Given the description of an element on the screen output the (x, y) to click on. 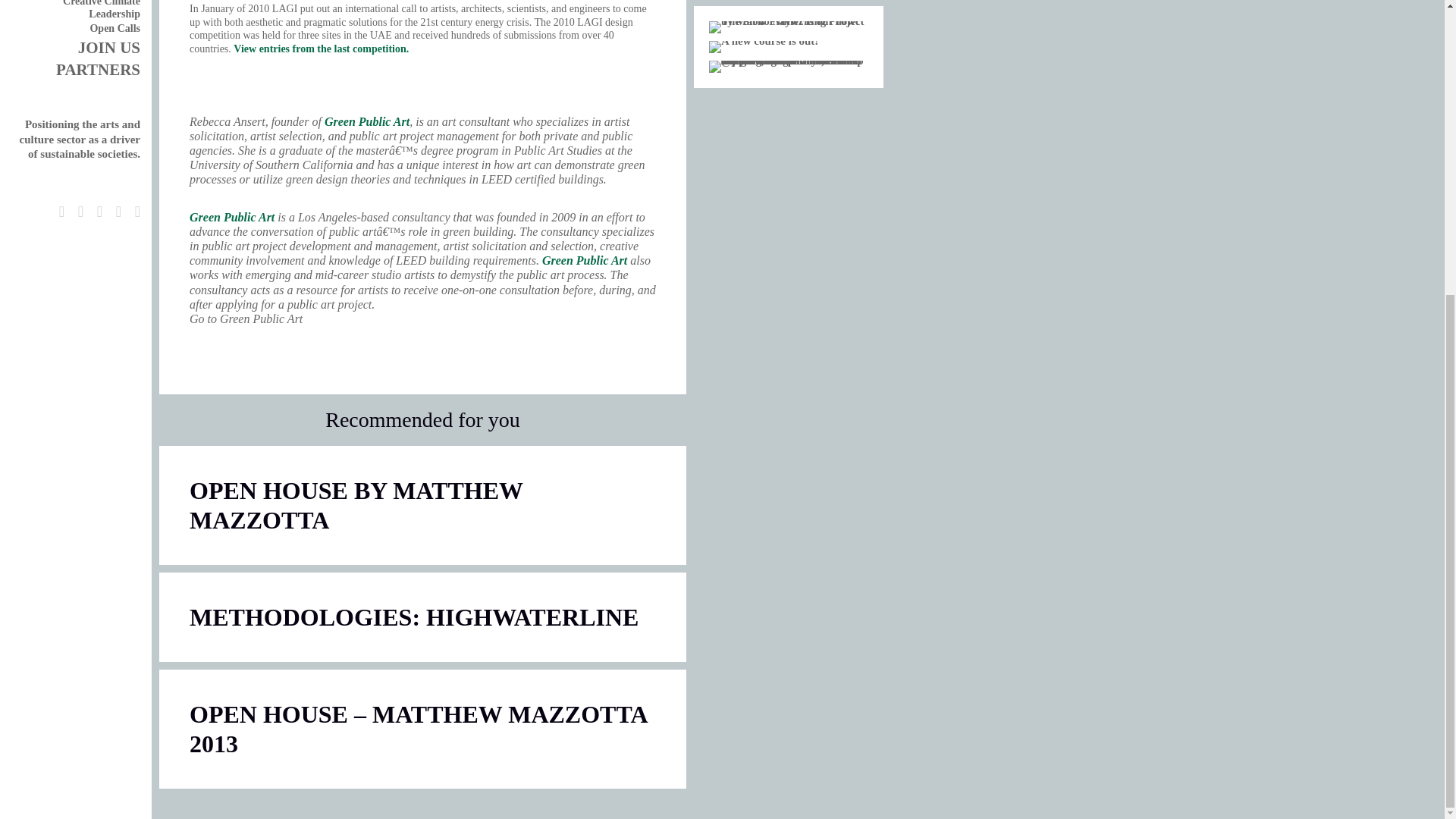
Creative Climate Leadership (100, 9)
PARTNERS (97, 69)
JOIN US (108, 47)
Open Calls (113, 28)
